Given the description of an element on the screen output the (x, y) to click on. 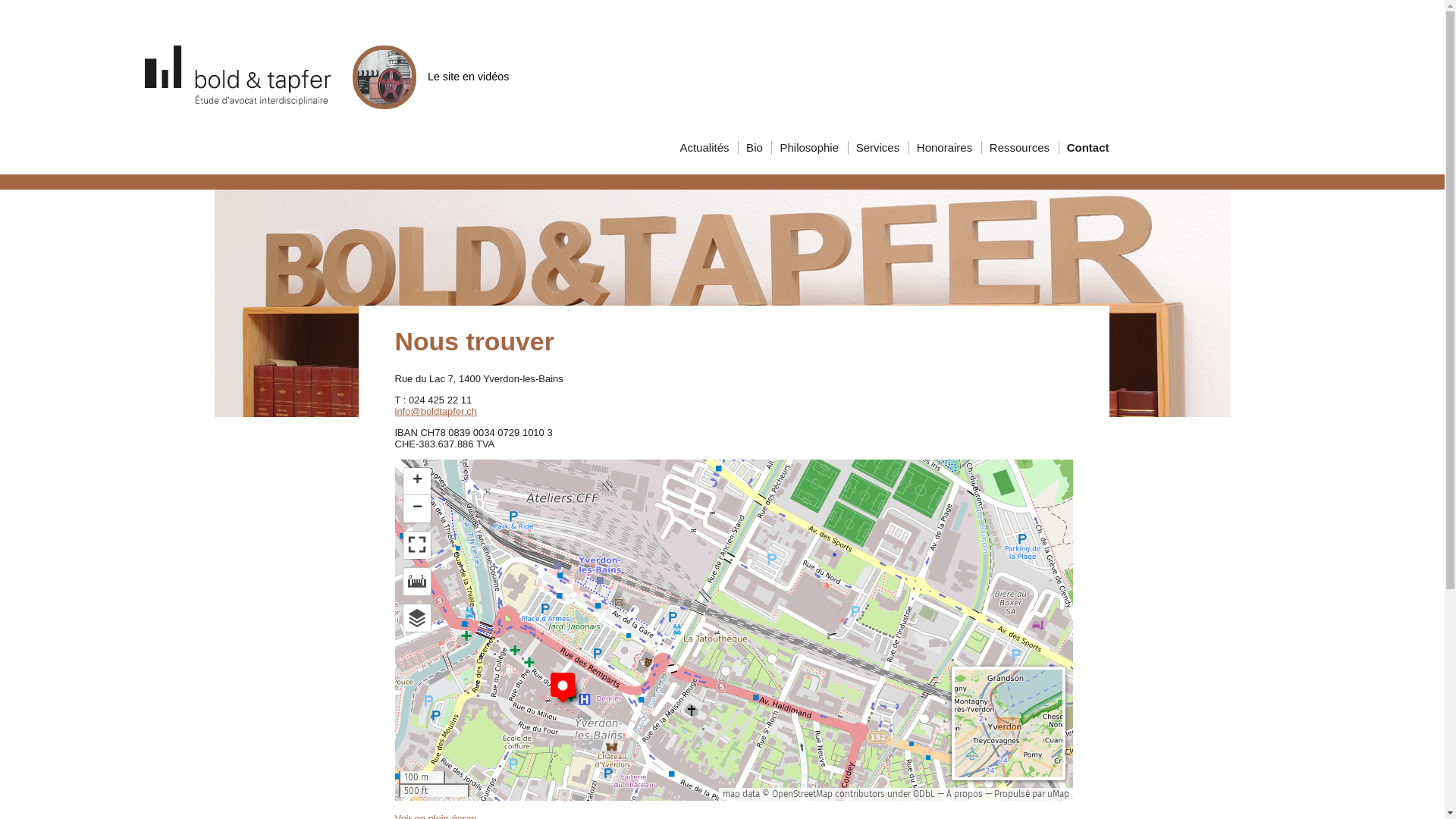
Ressources Element type: text (1018, 147)
Bio Element type: text (752, 147)
Philosophie Element type: text (807, 147)
Contact Element type: text (1117, 147)
info@boldtapfer.ch Element type: text (435, 411)
Services Element type: text (876, 147)
Honoraires Element type: text (943, 147)
